Given the description of an element on the screen output the (x, y) to click on. 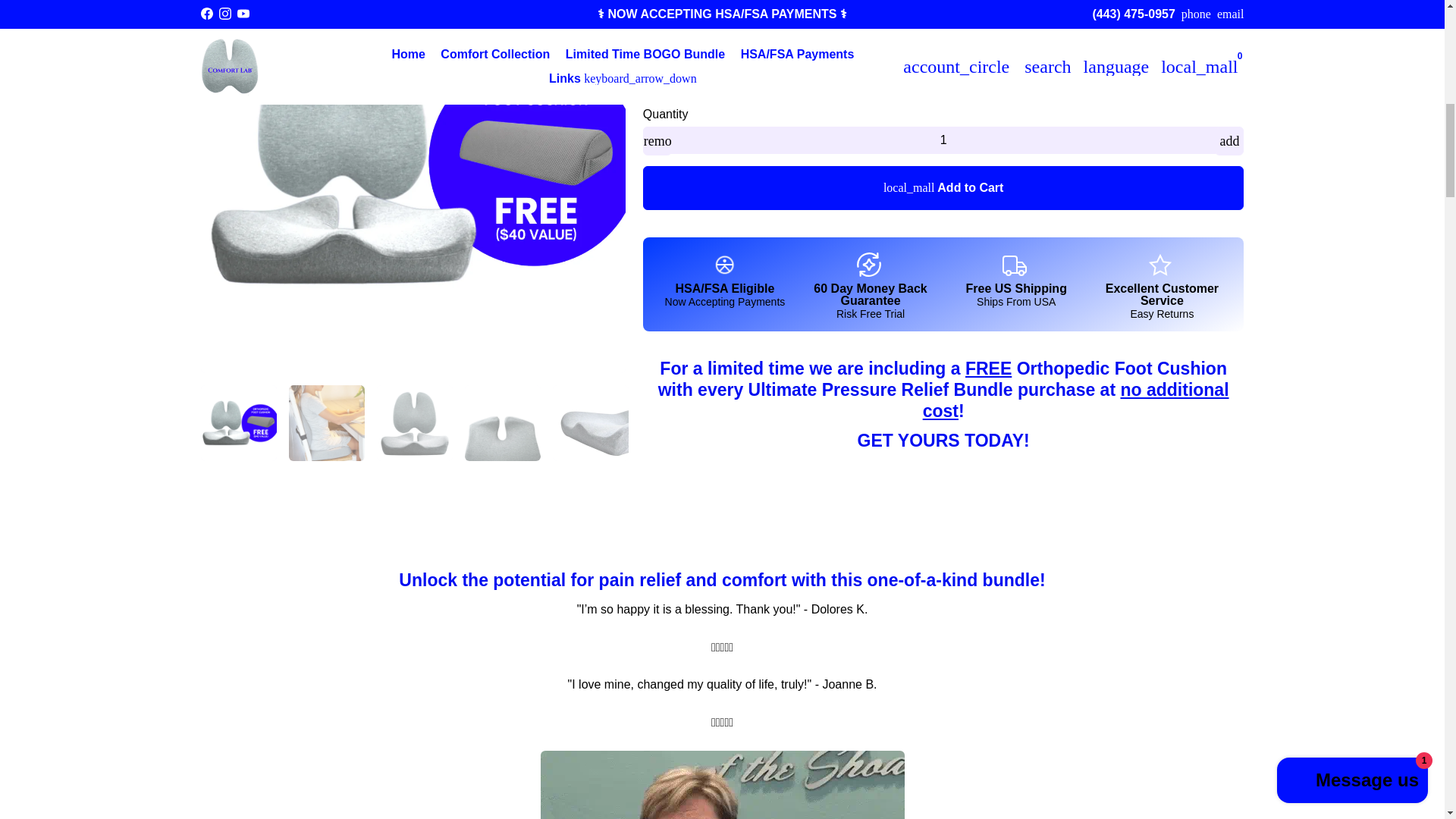
1 (943, 139)
